Given the description of an element on the screen output the (x, y) to click on. 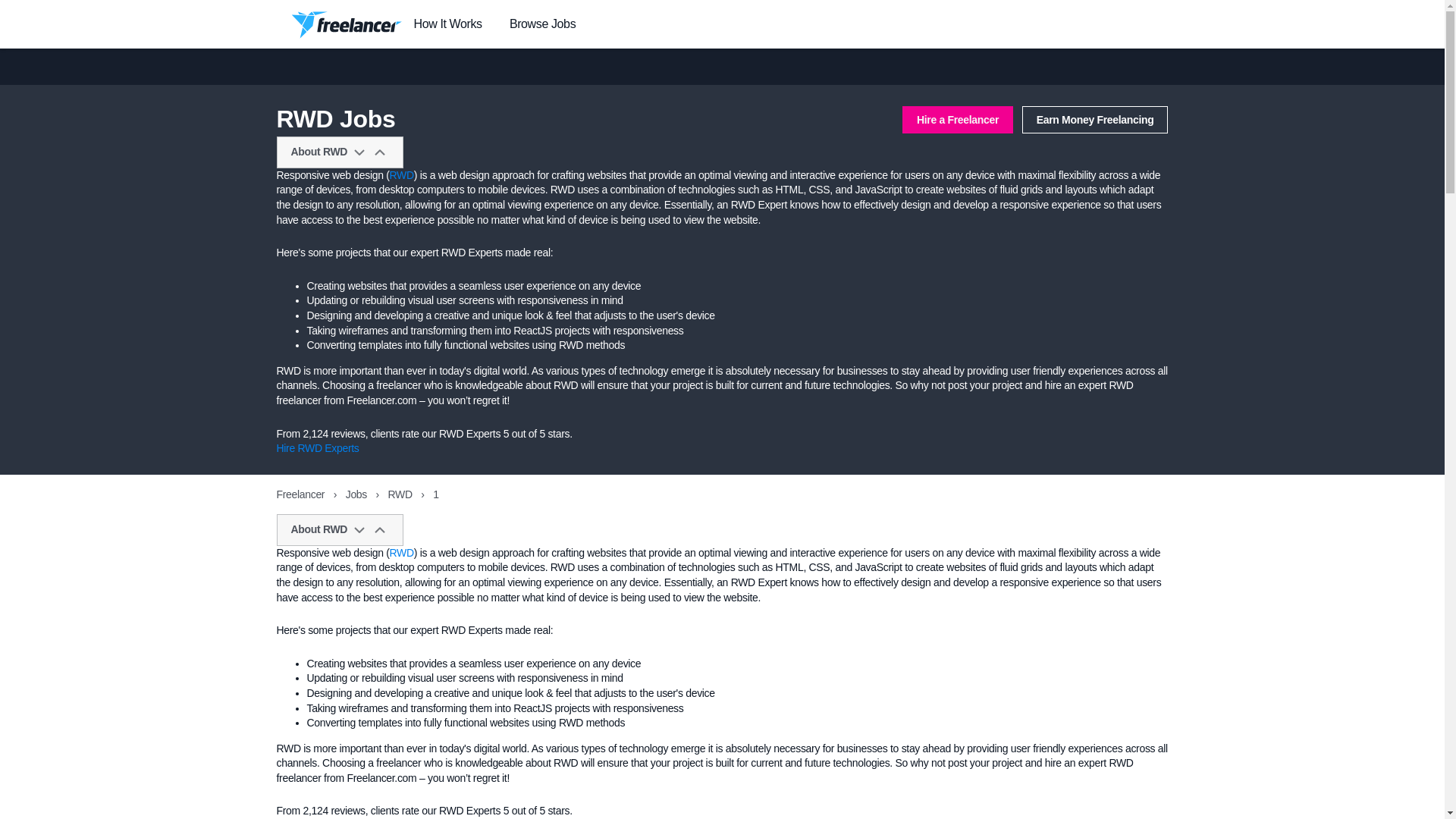
RWD (401, 174)
Jobs (357, 494)
RWD (401, 494)
Browse Jobs (542, 24)
Hire RWD Experts (317, 448)
About RWD (339, 530)
How It Works (447, 24)
Freelancer (301, 494)
Earn Money Freelancing (1095, 119)
RWD (401, 552)
